Given the description of an element on the screen output the (x, y) to click on. 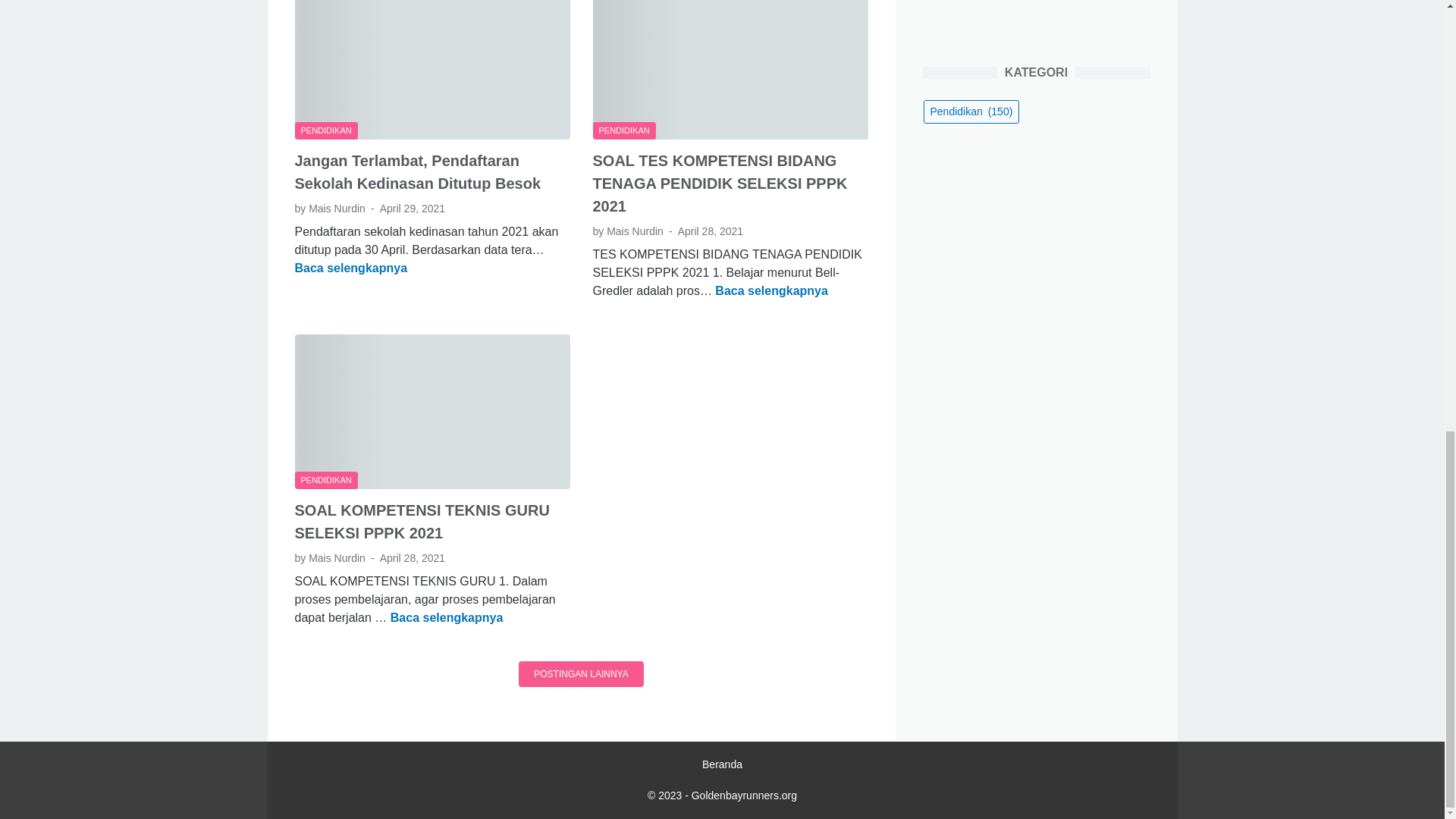
Goldenbayrunners.org (743, 795)
SOAL KOMPETENSI TEKNIS GURU SELEKSI PPPK 2021 (421, 521)
SOAL TES KOMPETENSI BIDANG TENAGA PENDIDIK SELEKSI PPPK 2021 (719, 183)
Beranda (721, 764)
POSTINGAN LAINNYA (580, 673)
Baca selengkapnya (771, 290)
Baca selengkapnya (446, 617)
Baca selengkapnya (350, 267)
